Given the description of an element on the screen output the (x, y) to click on. 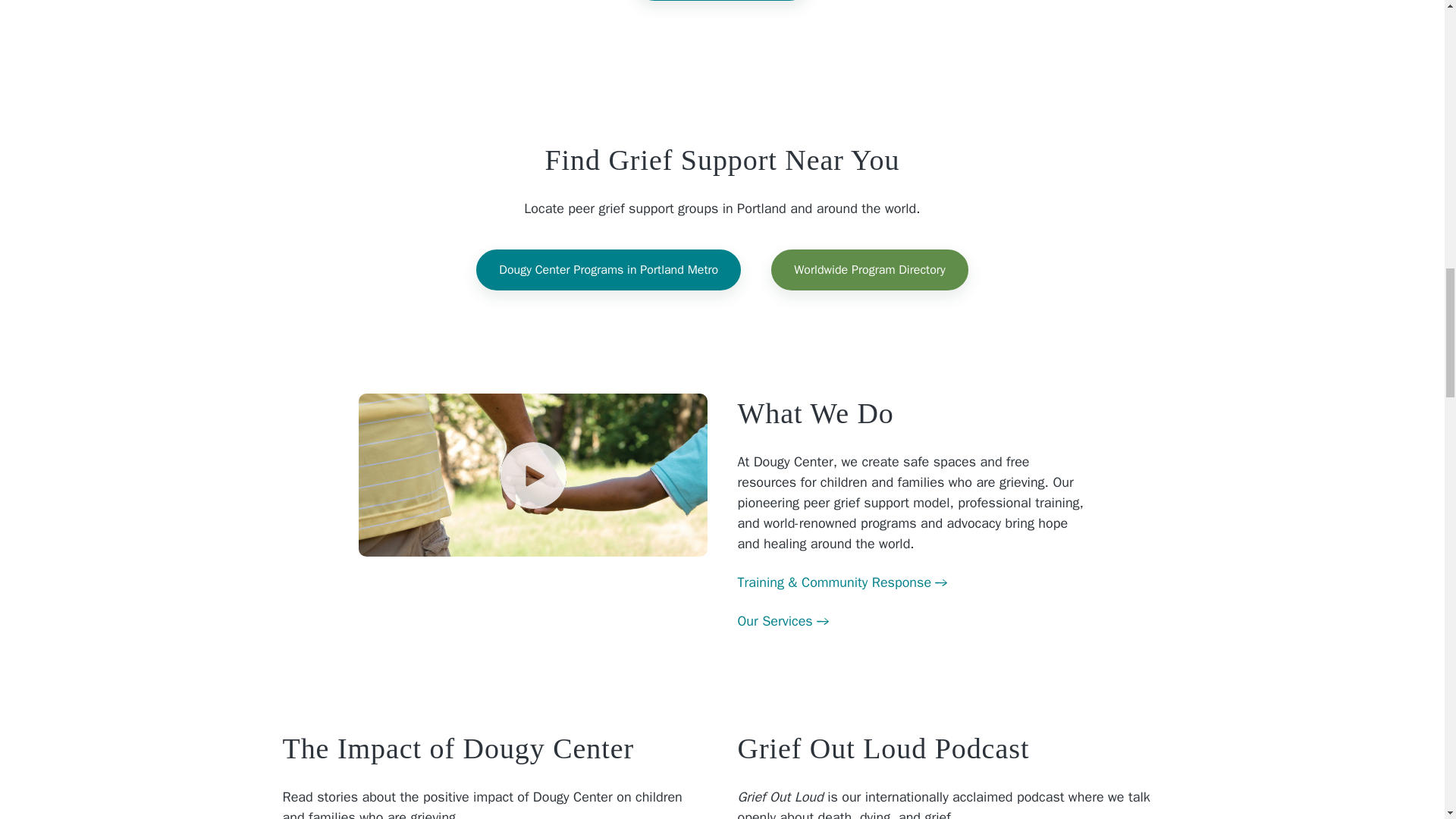
Photo hp video thumb (532, 475)
